Given the description of an element on the screen output the (x, y) to click on. 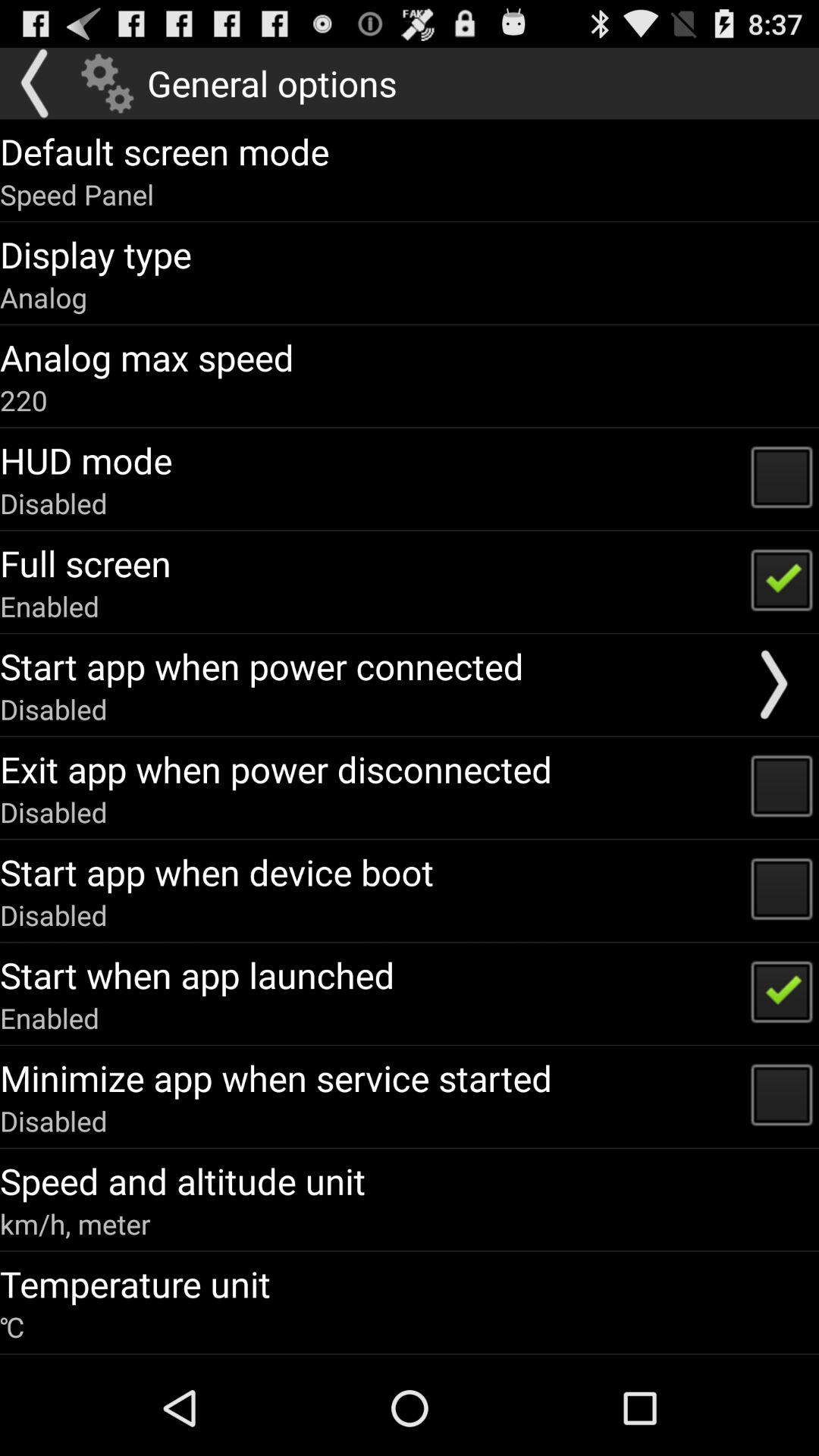
launch speed panel icon (77, 194)
